Given the description of an element on the screen output the (x, y) to click on. 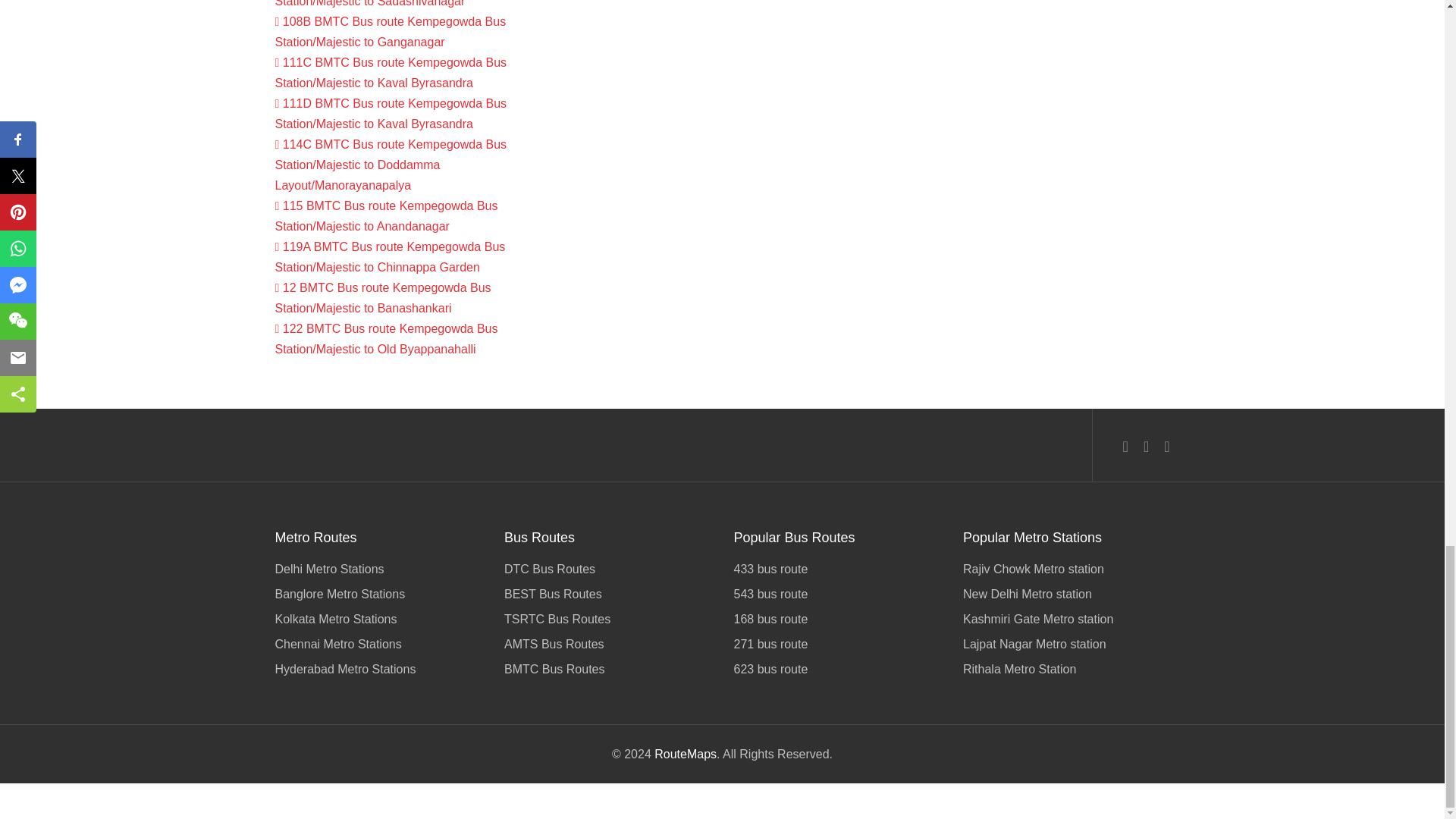
Facebook (1125, 446)
TSRTC Bus Routes (607, 618)
Kolkata Metro Stations (378, 618)
BMTC Bus Routes (607, 667)
DTC Bus Routes (607, 570)
Banglore Metro Stations (378, 593)
543 bus route (836, 593)
Twitter (1145, 446)
AMTS Bus Routes (607, 643)
271 bus route (836, 643)
433 bus route (836, 570)
New Delhi Metro station (1066, 593)
BEST Bus Routes (607, 593)
168 bus route (836, 618)
Delhi Metro Stations (378, 570)
